Given the description of an element on the screen output the (x, y) to click on. 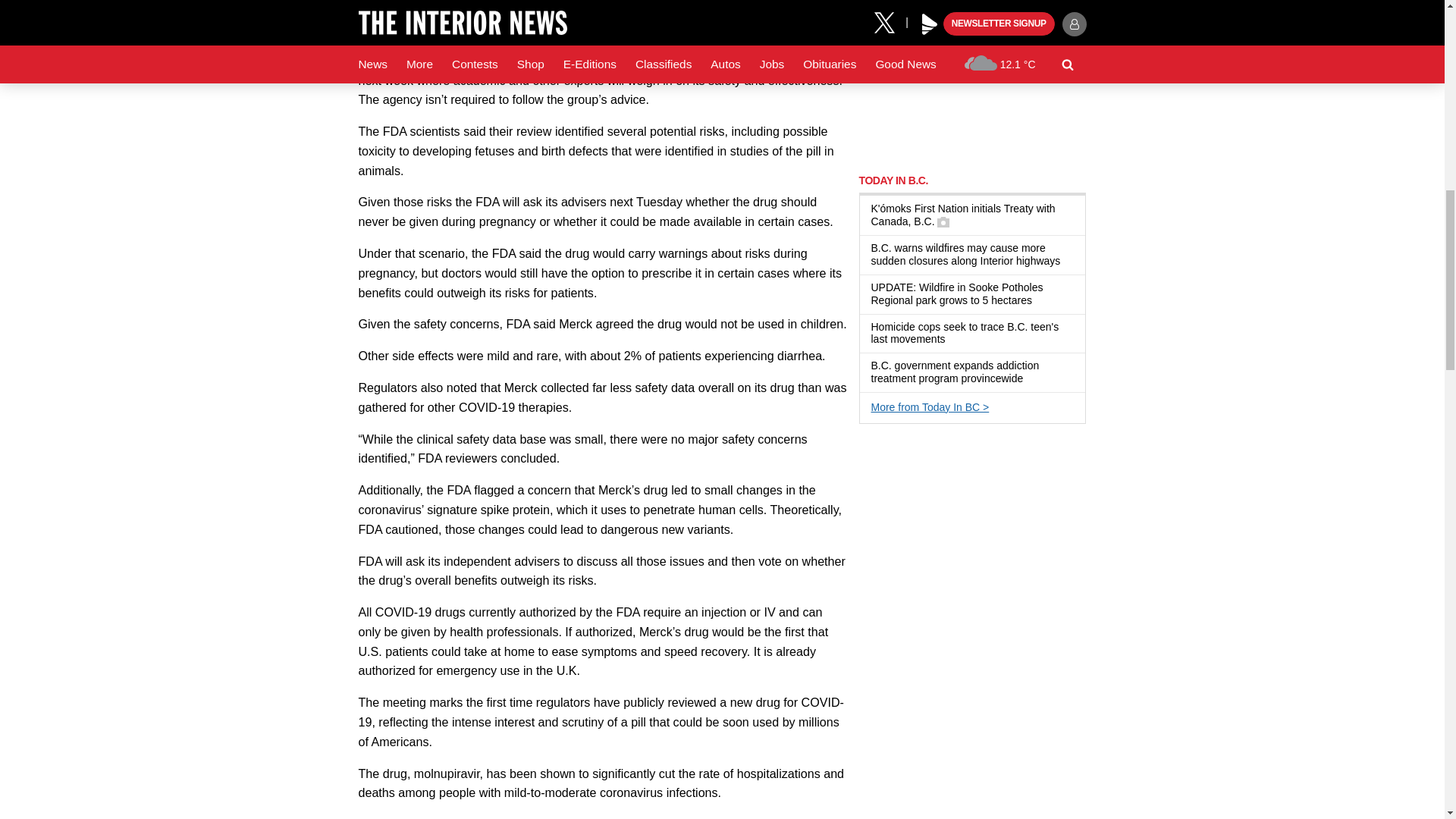
Has a gallery (943, 222)
